Given the description of an element on the screen output the (x, y) to click on. 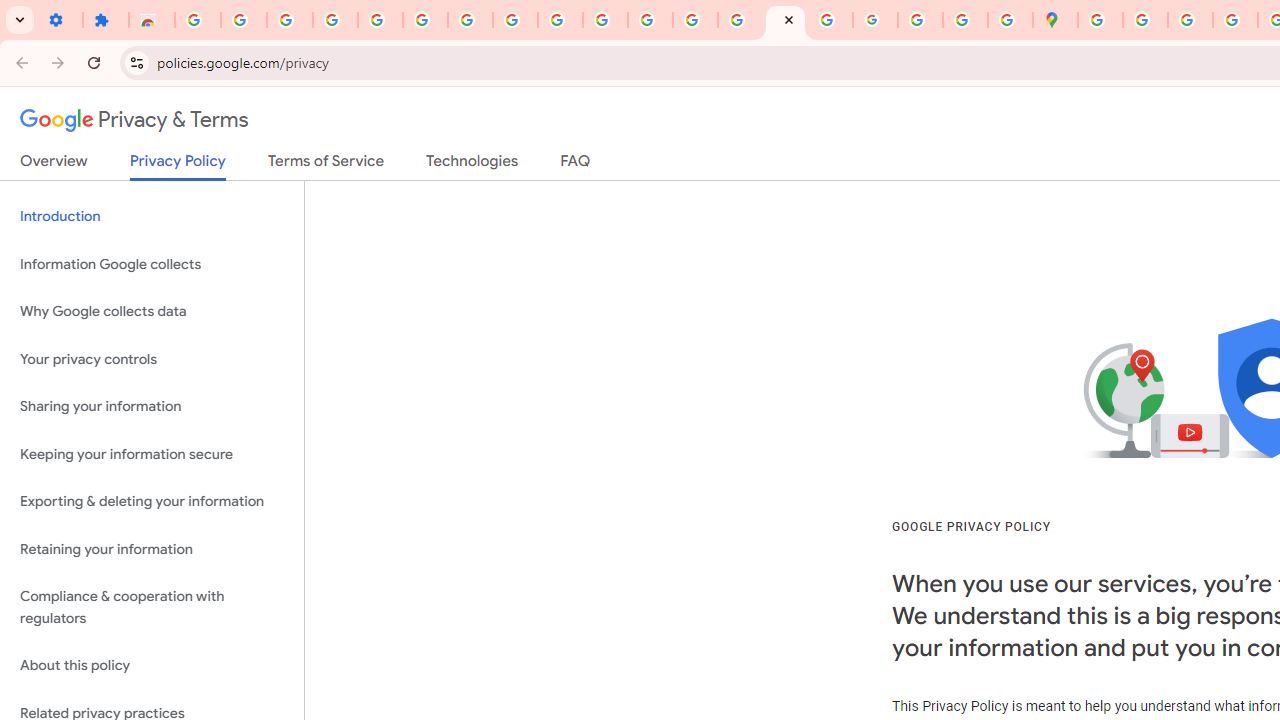
Keeping your information secure (152, 453)
Reviews: Helix Fruit Jump Arcade Game (152, 20)
Delete photos & videos - Computer - Google Photos Help (244, 20)
YouTube (514, 20)
Privacy Help Center - Policies Help (695, 20)
